Given the description of an element on the screen output the (x, y) to click on. 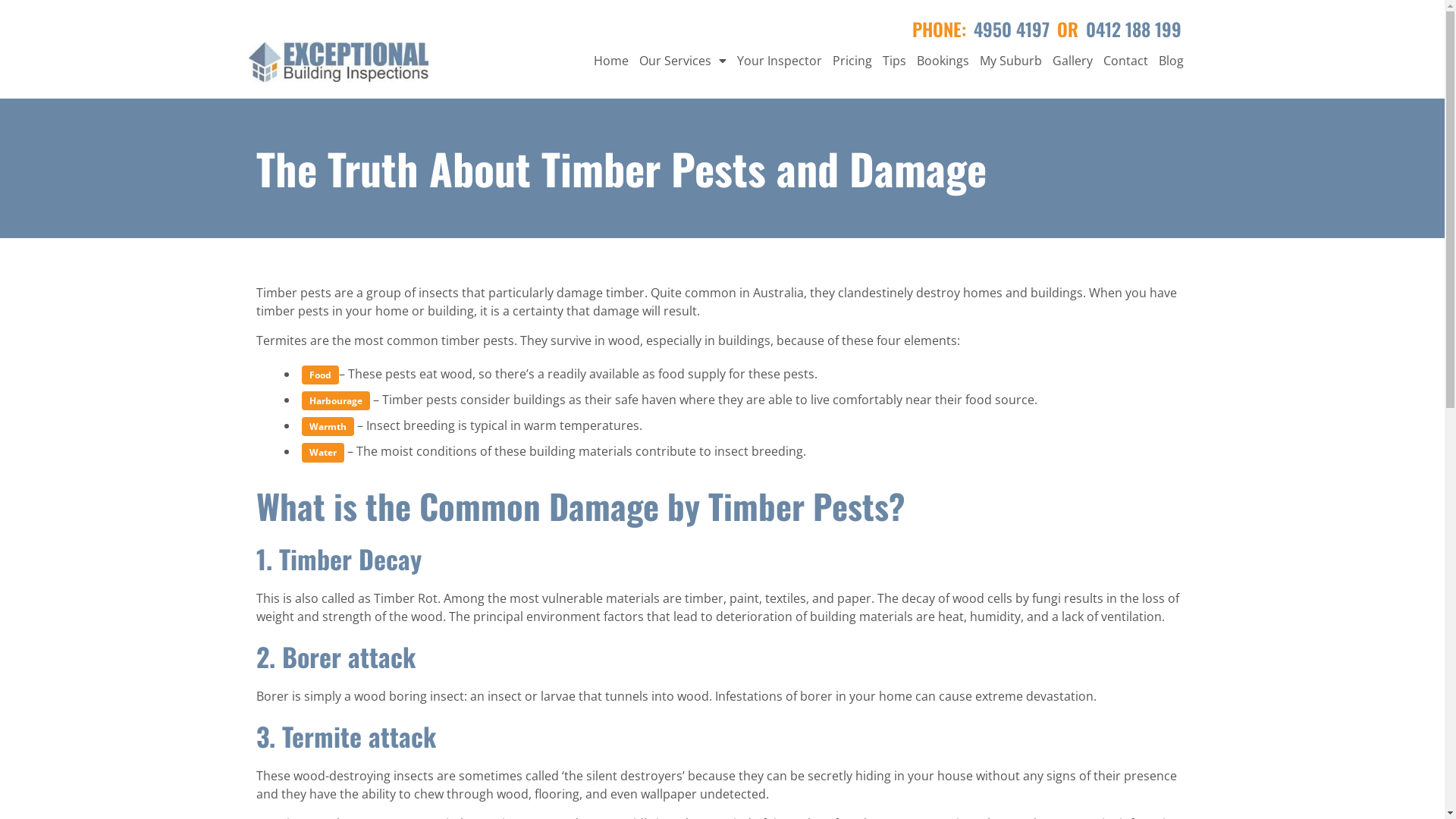
Blog Element type: text (1170, 60)
Home Element type: text (610, 60)
My Suburb Element type: text (1009, 60)
Bookings Element type: text (942, 60)
Pricing Element type: text (851, 60)
4950 4197 Element type: text (1011, 28)
Our Services Element type: text (682, 60)
0412 188 199 Element type: text (1133, 28)
Contact Element type: text (1125, 60)
Your Inspector Element type: text (778, 60)
Tips Element type: text (893, 60)
Gallery Element type: text (1071, 60)
